Given the description of an element on the screen output the (x, y) to click on. 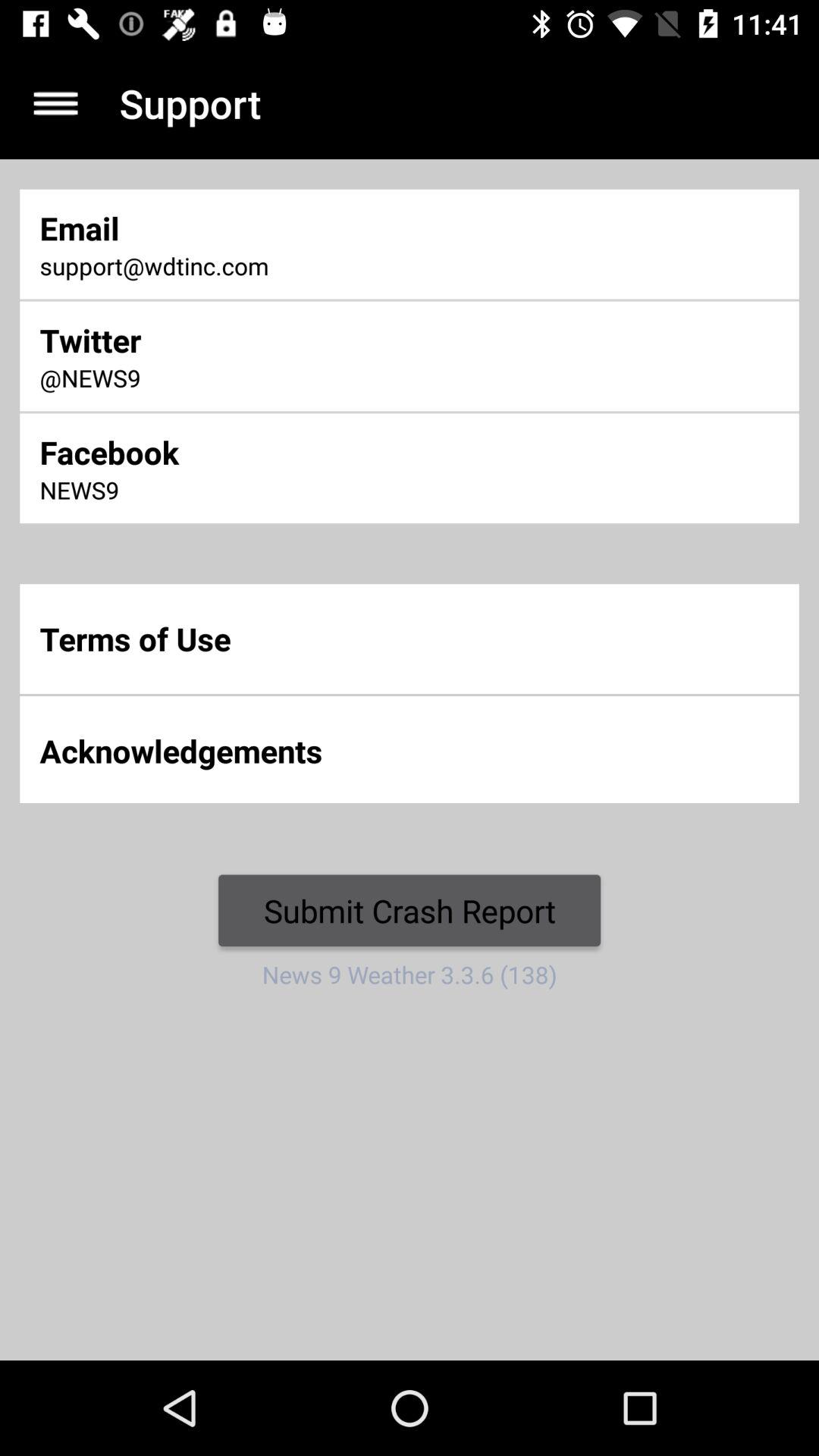
select the item to the left of support (55, 103)
